Given the description of an element on the screen output the (x, y) to click on. 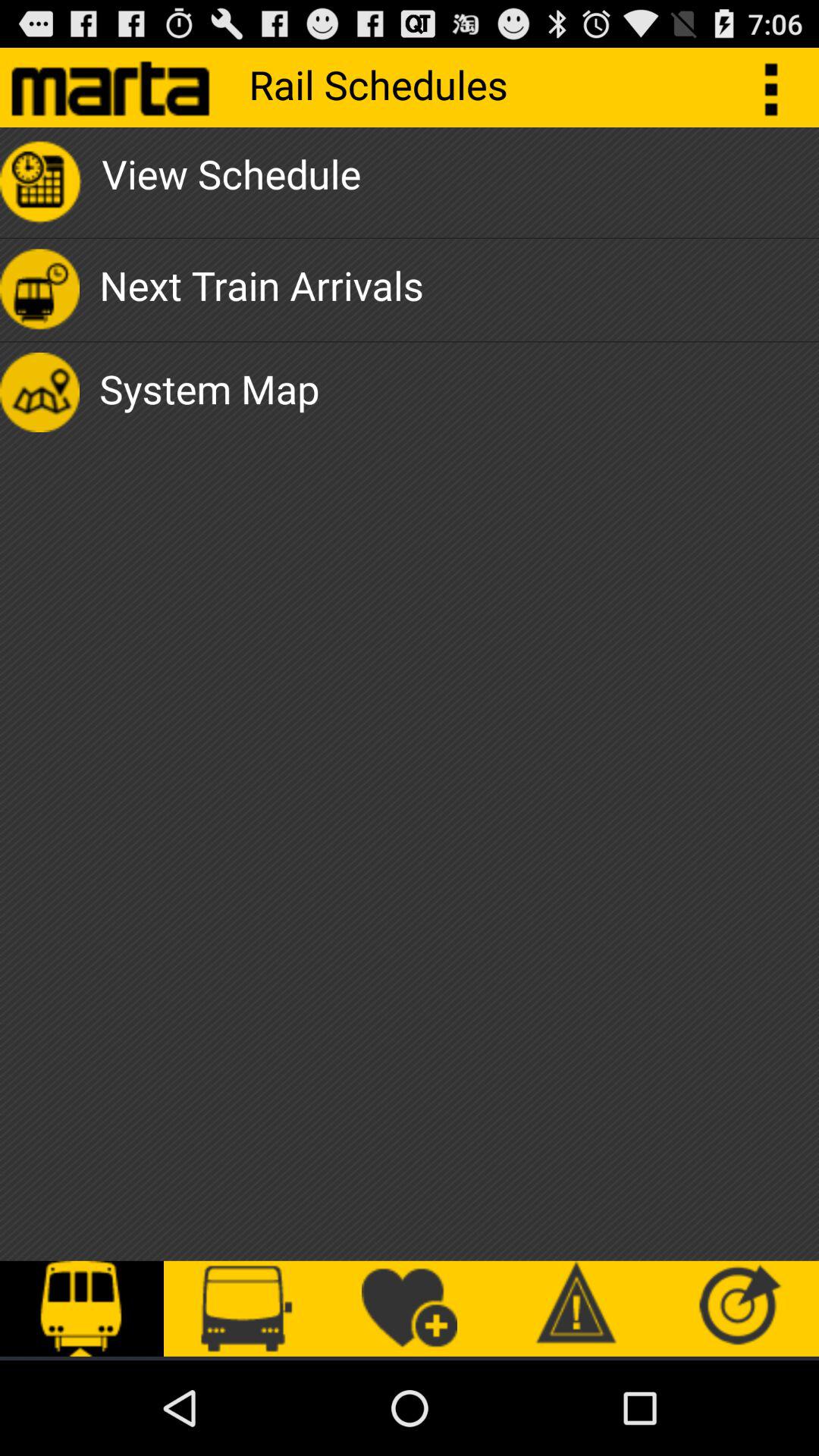
jump to the view schedule item (231, 182)
